Given the description of an element on the screen output the (x, y) to click on. 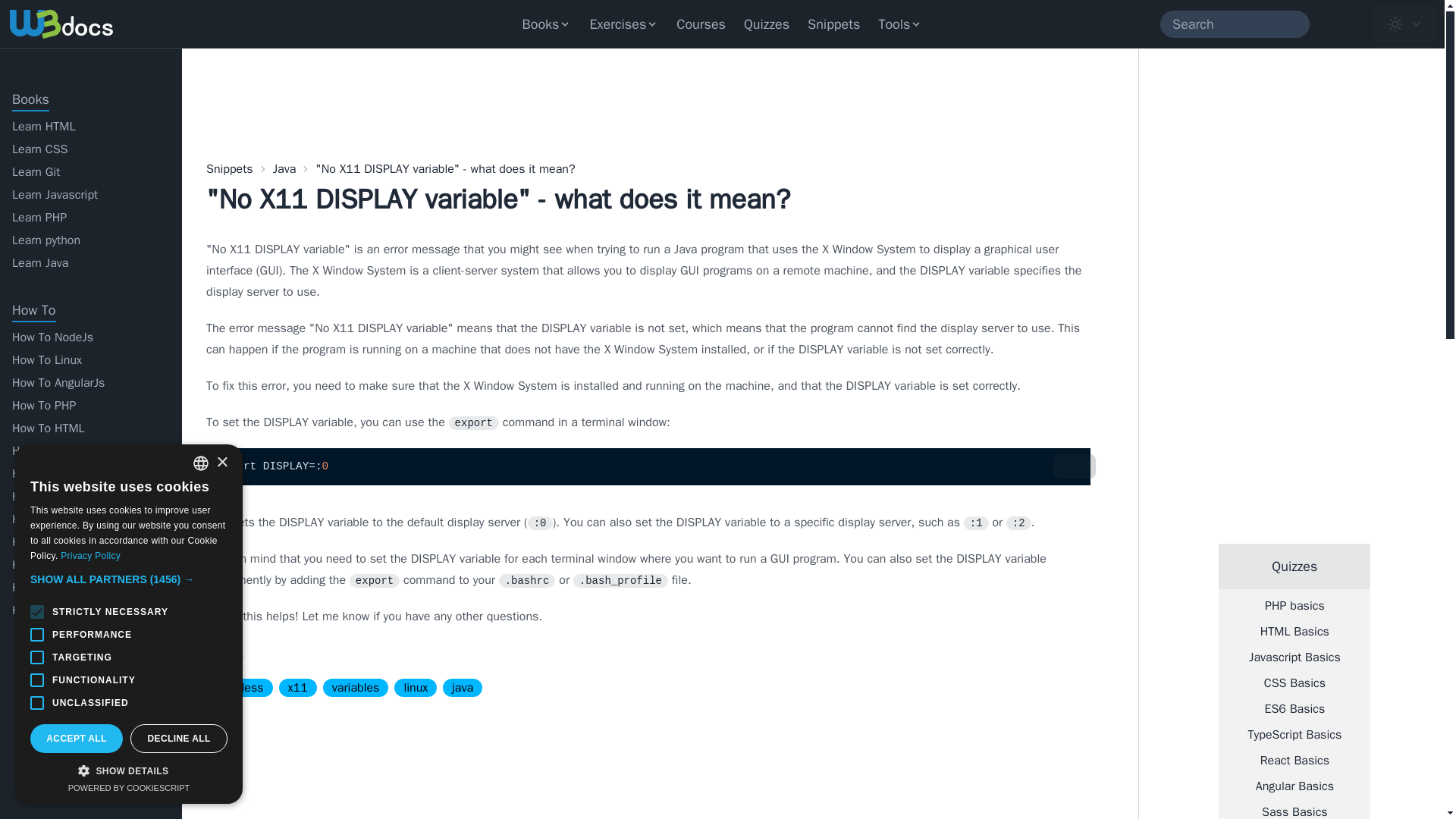
Courses (700, 24)
Consent Management Platform (129, 787)
Quizzes (766, 24)
Snippets (833, 24)
3rd party ad content (319, 764)
